Given the description of an element on the screen output the (x, y) to click on. 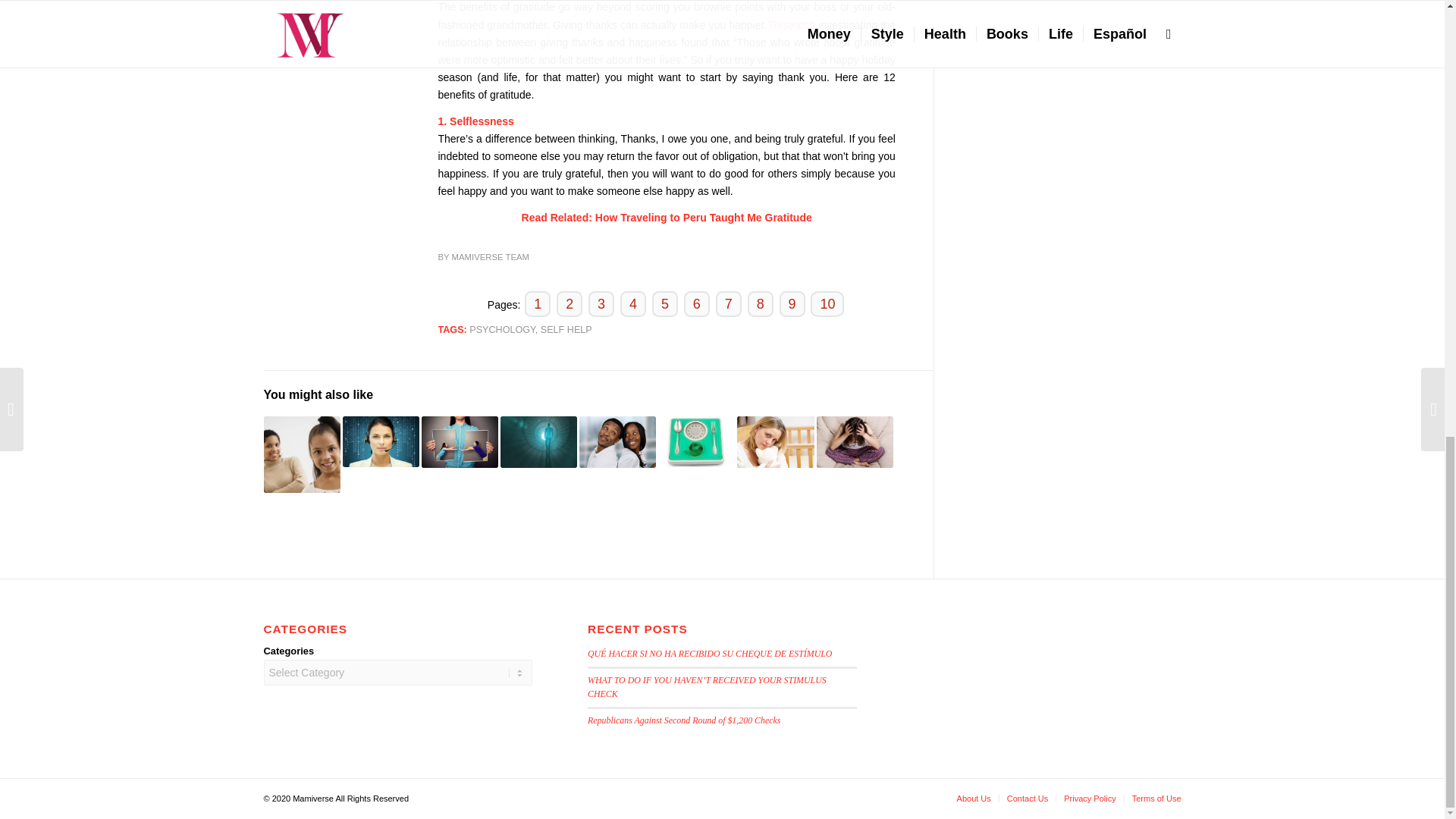
8 (759, 303)
4 (632, 303)
PSYCHOLOGY (501, 329)
3 (600, 303)
7 (728, 303)
2 (568, 303)
Posts by Mamiverse Team (490, 256)
Couple Karma: How to be a Better Girlfriend or Wife (617, 441)
Research (794, 24)
6 (696, 303)
